Given the description of an element on the screen output the (x, y) to click on. 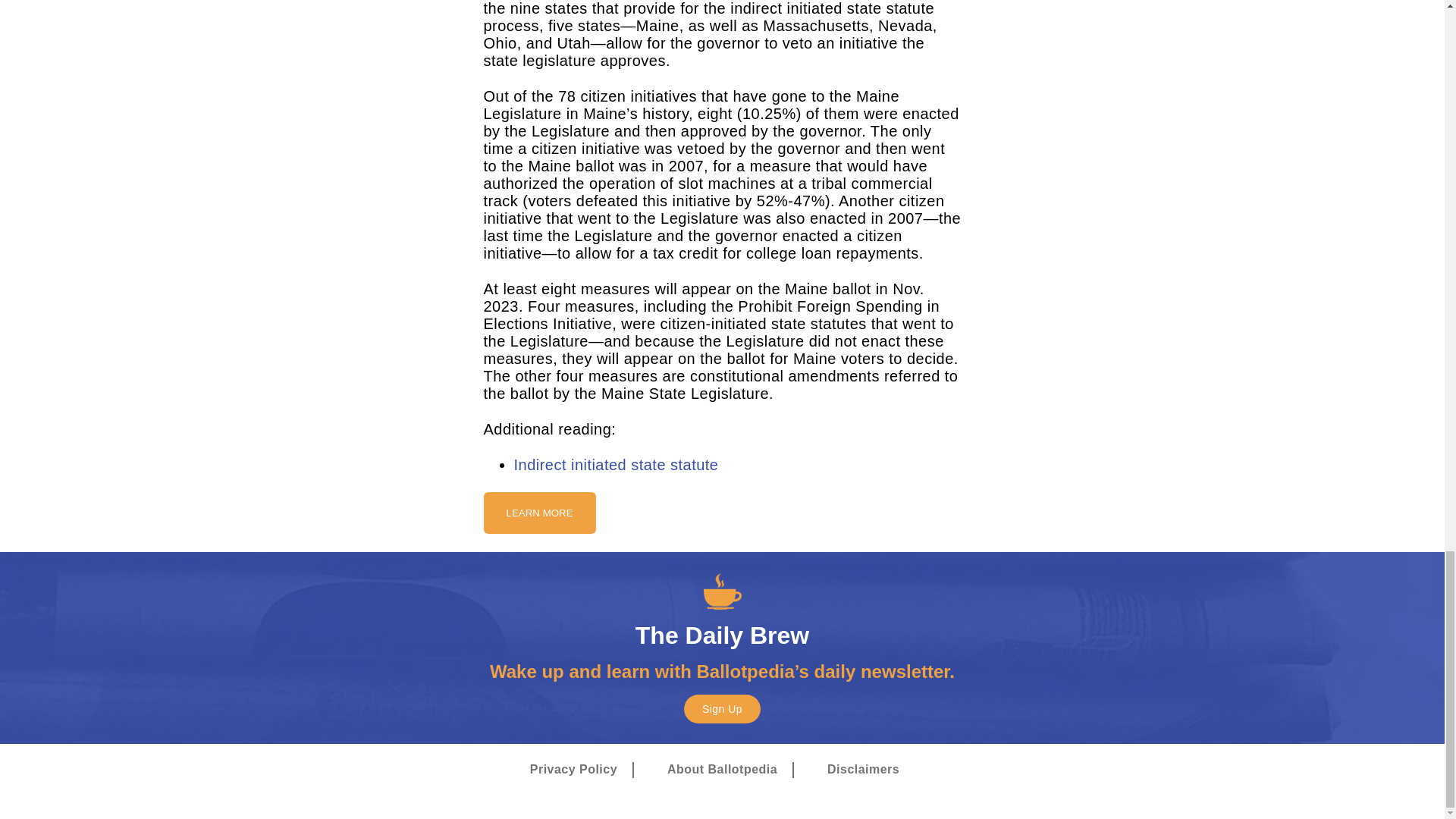
About Ballotpedia (721, 770)
Disclaimers (863, 770)
LEARN MORE (539, 512)
LEARN MORE (539, 512)
Indirect initiated state statute (616, 464)
Sign Up (722, 708)
Privacy Policy (573, 770)
